Given the description of an element on the screen output the (x, y) to click on. 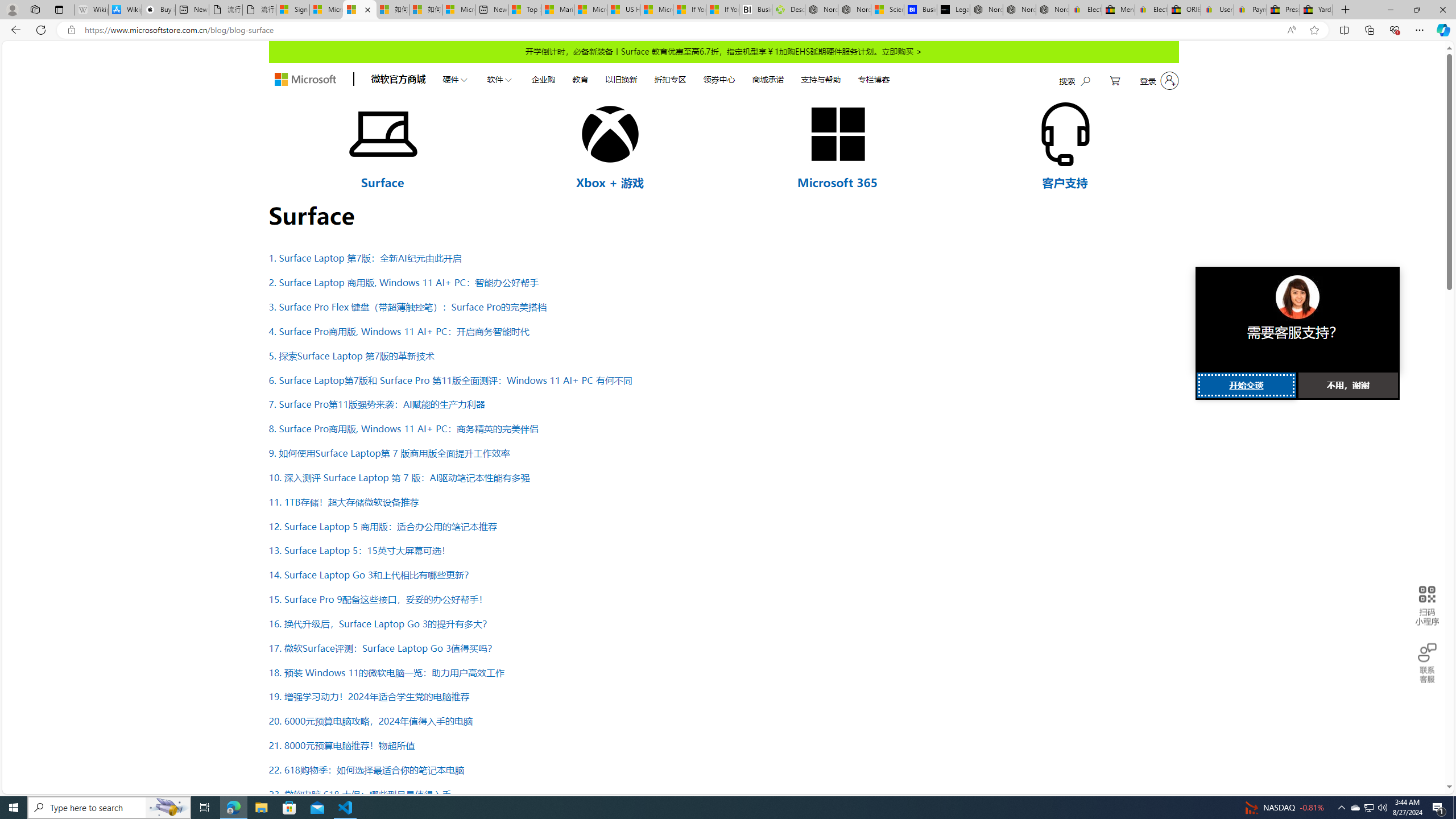
Electronics, Cars, Fashion, Collectibles & More | eBay (1150, 9)
Marine life - MSN (557, 9)
